Given the description of an element on the screen output the (x, y) to click on. 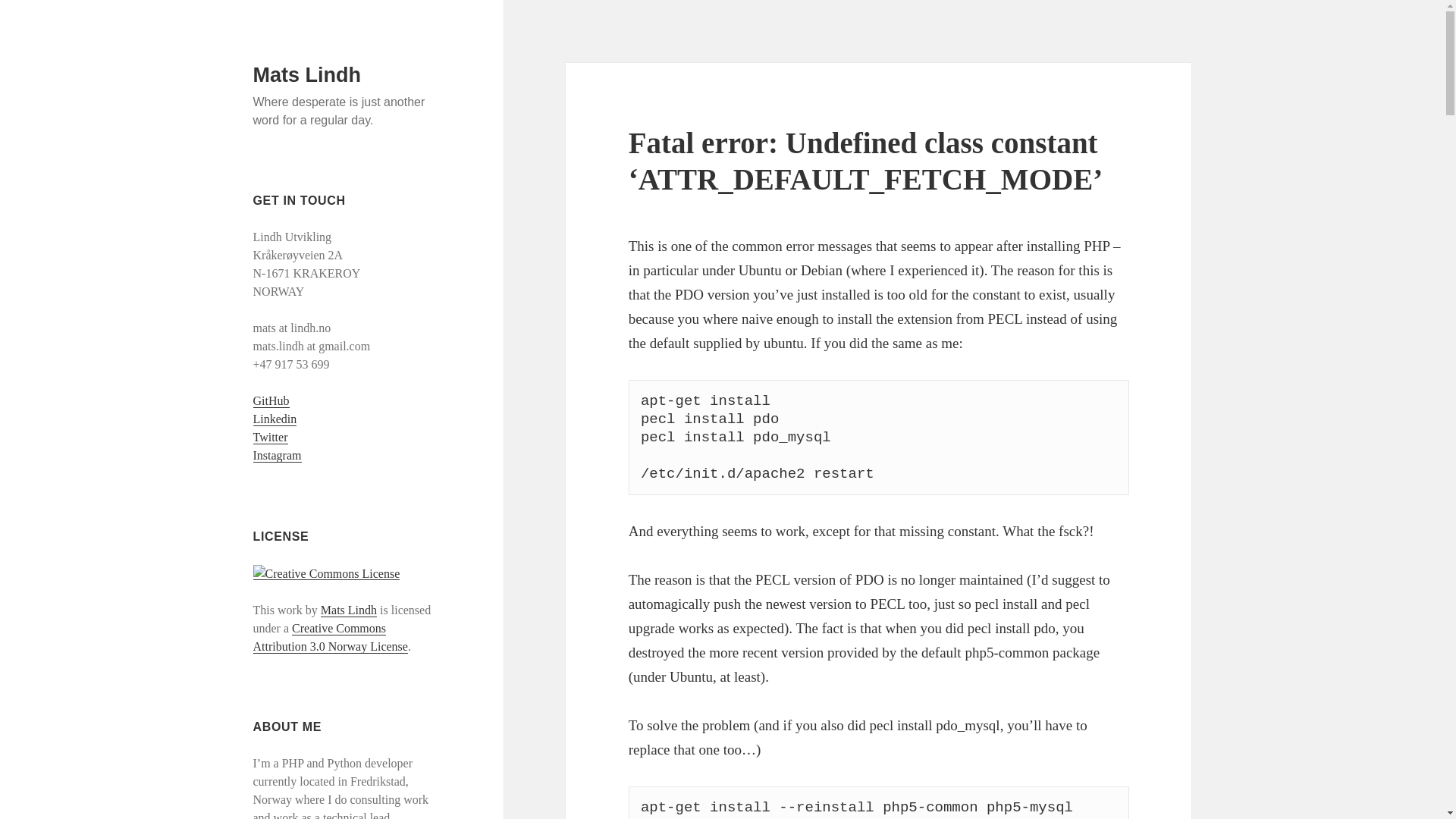
Instagram (277, 455)
Linkedin (275, 418)
Mats Lindh (348, 610)
Twitter (270, 437)
Creative Commons Attribution 3.0 Norway License (330, 637)
Mats Lindh (307, 74)
GitHub (271, 400)
